Given the description of an element on the screen output the (x, y) to click on. 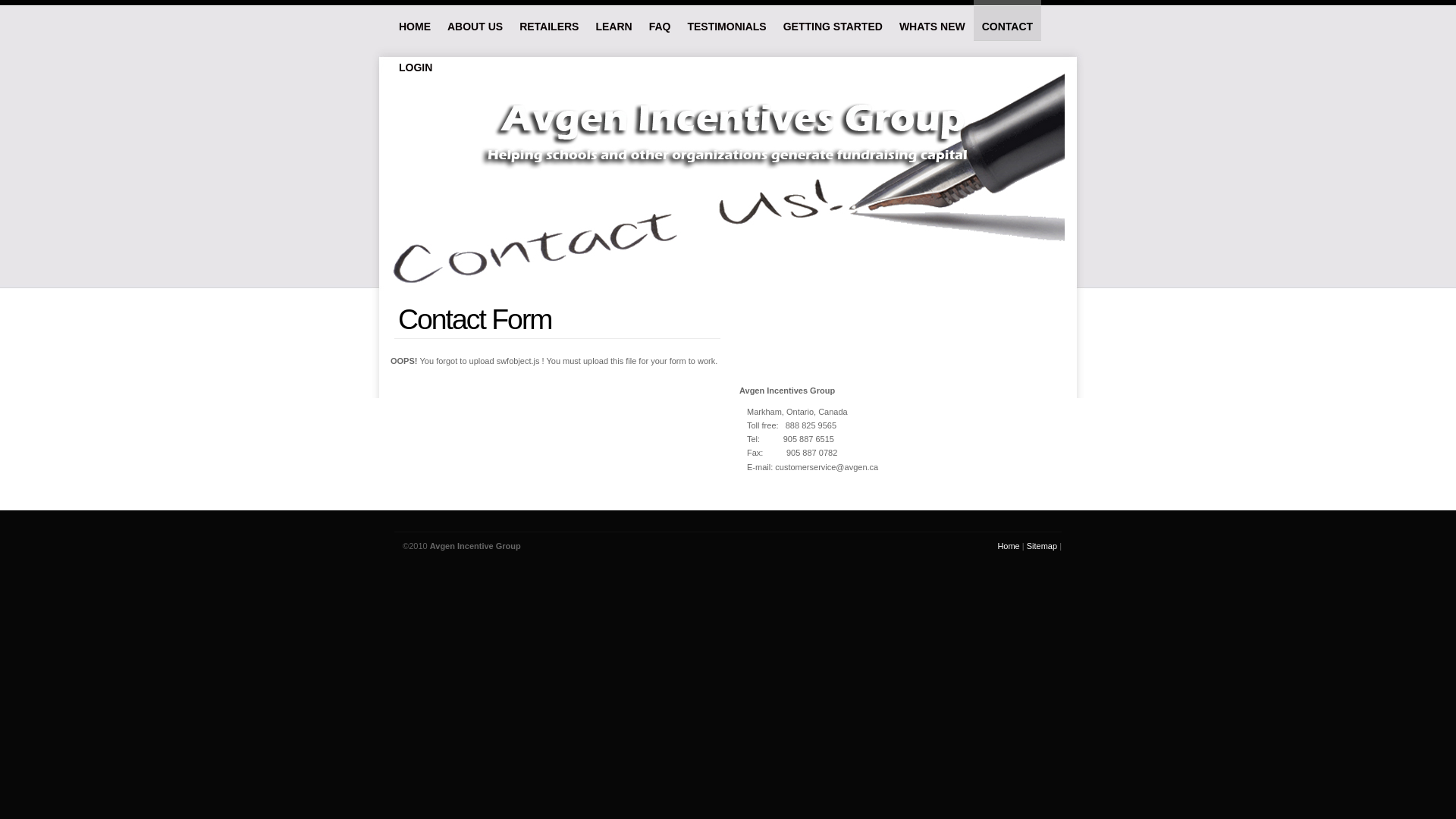
LEARN Element type: text (613, 20)
ABOUT US Element type: text (475, 20)
Home Element type: text (1008, 545)
TESTIMONIALS Element type: text (726, 20)
LOGIN Element type: text (415, 60)
WHATS NEW Element type: text (932, 20)
CONTACT Element type: text (1007, 20)
Sitemap Element type: text (1041, 545)
RETAILERS Element type: text (548, 20)
HOME Element type: text (414, 20)
GETTING STARTED Element type: text (833, 20)
FAQ Element type: text (659, 20)
